Given the description of an element on the screen output the (x, y) to click on. 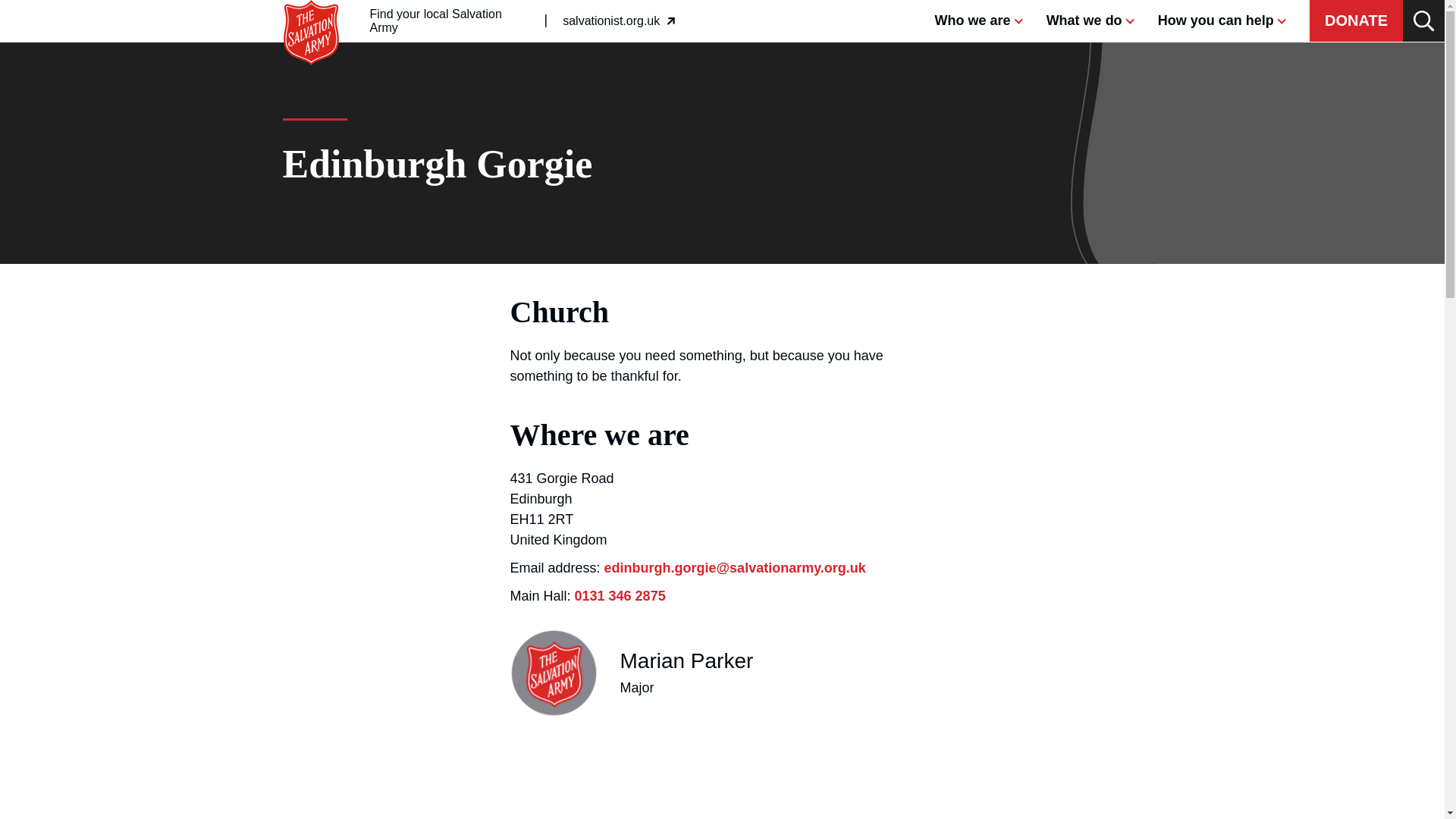
Find your local Salvation Army (449, 21)
Home (310, 7)
